Given the description of an element on the screen output the (x, y) to click on. 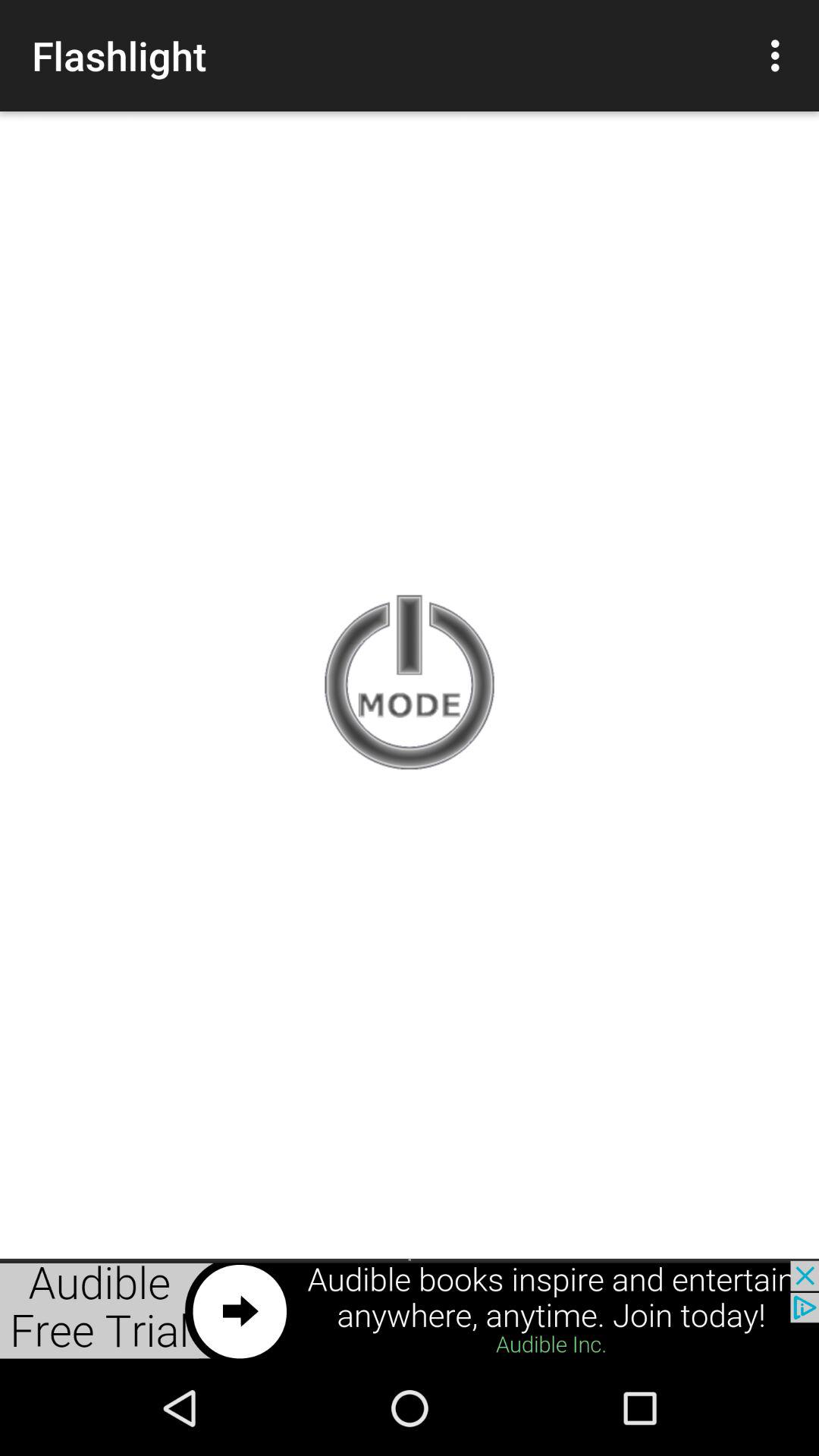
add the option (409, 1310)
